Given the description of an element on the screen output the (x, y) to click on. 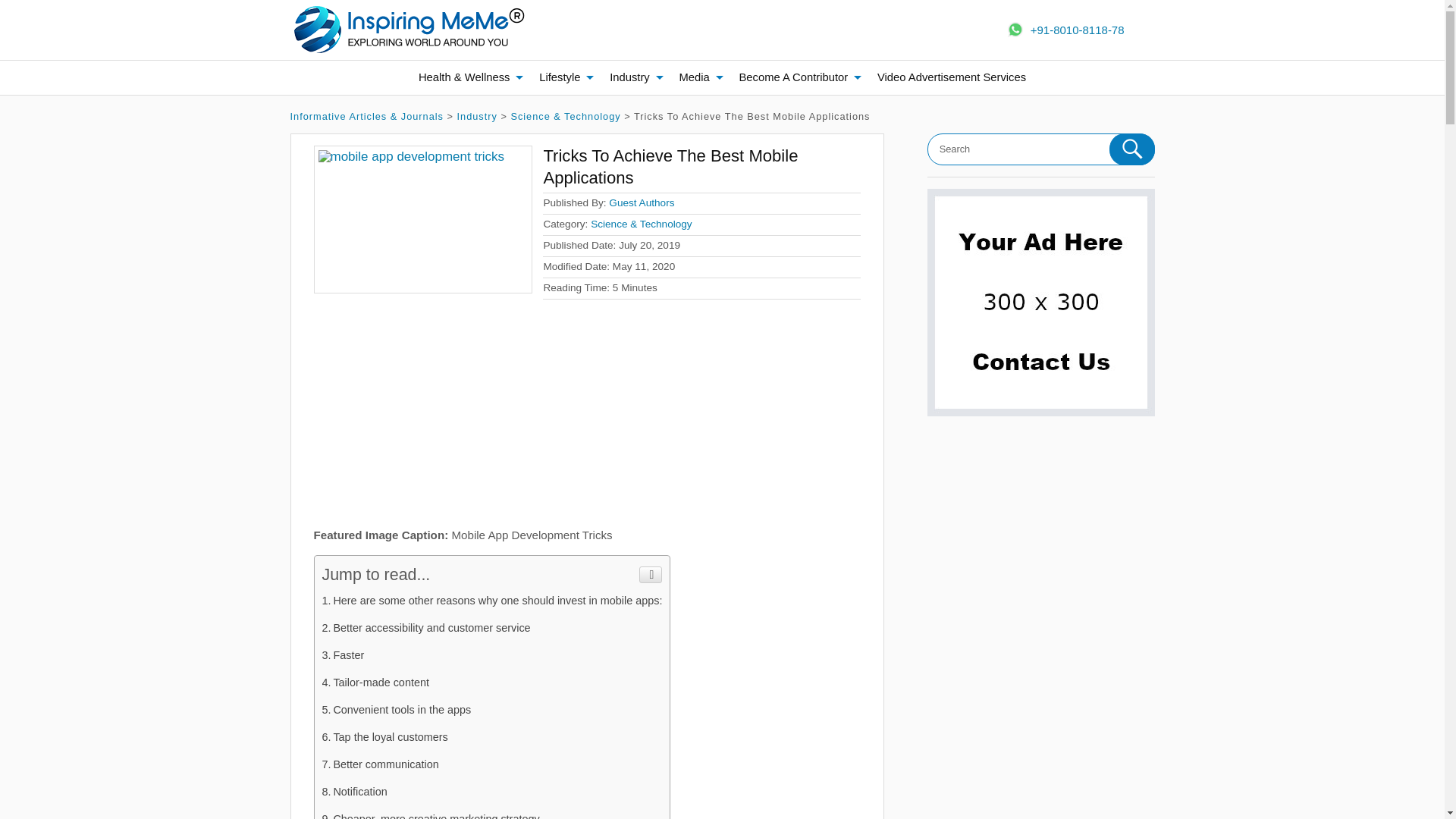
Tailor-made content (374, 682)
Tap the loyal customers (383, 736)
Better accessibility and customer service (425, 627)
Faster (342, 654)
Tricks To Achieve The Best Mobile Applications (670, 166)
Posts by Guest Authors (641, 202)
Convenient tools in the apps (395, 709)
Industry (477, 116)
Tricks To Achieve The Best Mobile Applications (423, 219)
Better communication (379, 764)
Notification (354, 791)
